Given the description of an element on the screen output the (x, y) to click on. 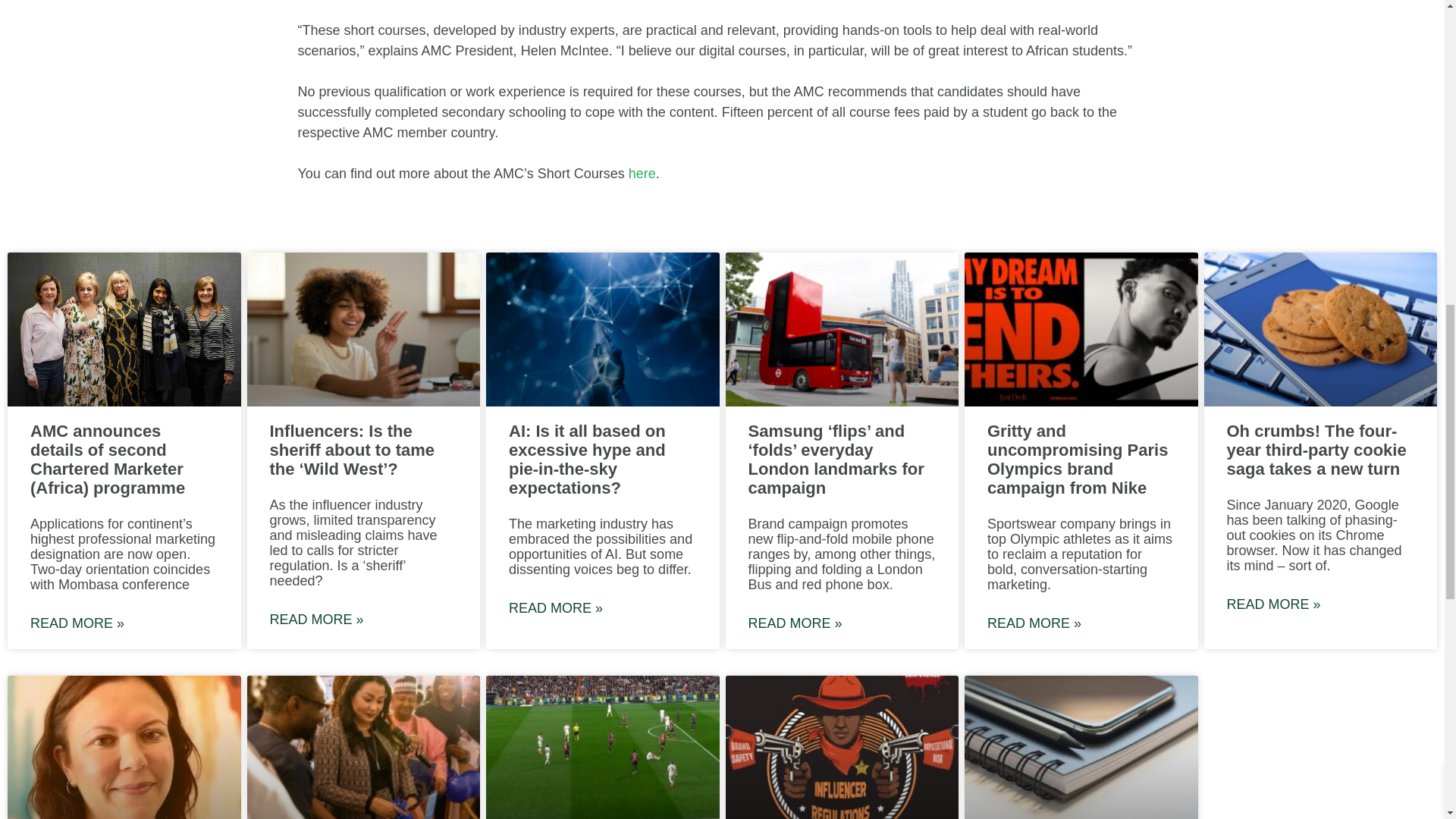
here (642, 173)
